Given the description of an element on the screen output the (x, y) to click on. 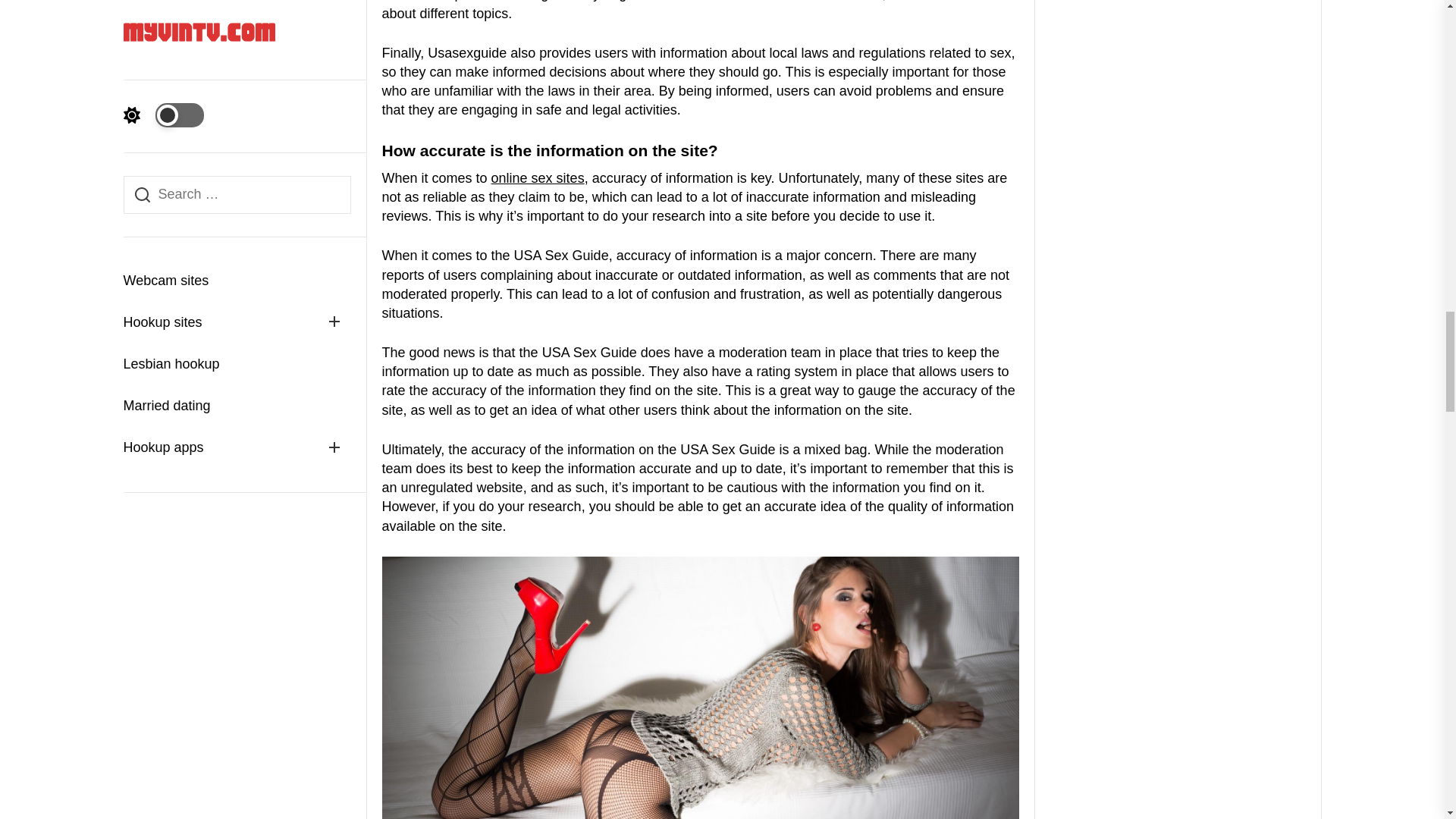
adult hookup sites (538, 177)
online sex sites (538, 177)
